Given the description of an element on the screen output the (x, y) to click on. 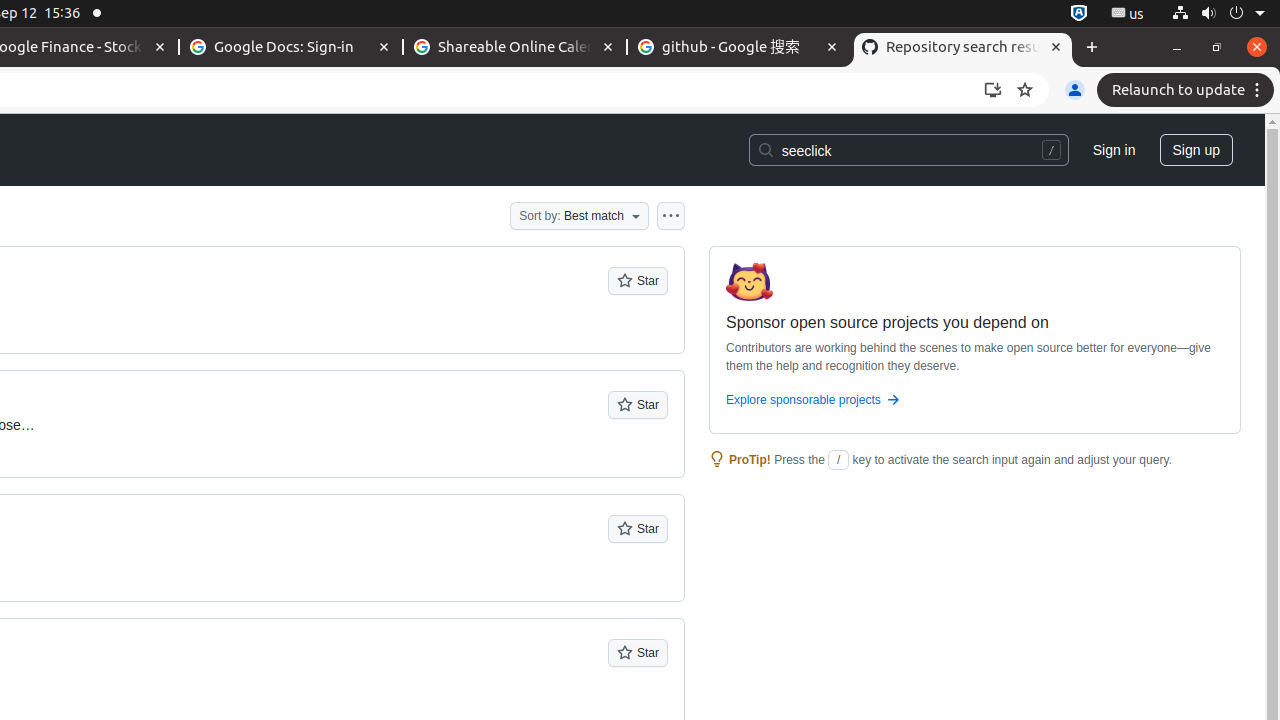
:1.72/StatusNotifierItem Element type: menu (1079, 13)
Sign in Element type: link (1114, 150)
:1.21/StatusNotifierItem Element type: menu (1127, 13)
github - Google 搜索 - Memory usage - 111 MB Element type: page-tab (739, 47)
Search or jump to… Element type: push-button (908, 150)
